Given the description of an element on the screen output the (x, y) to click on. 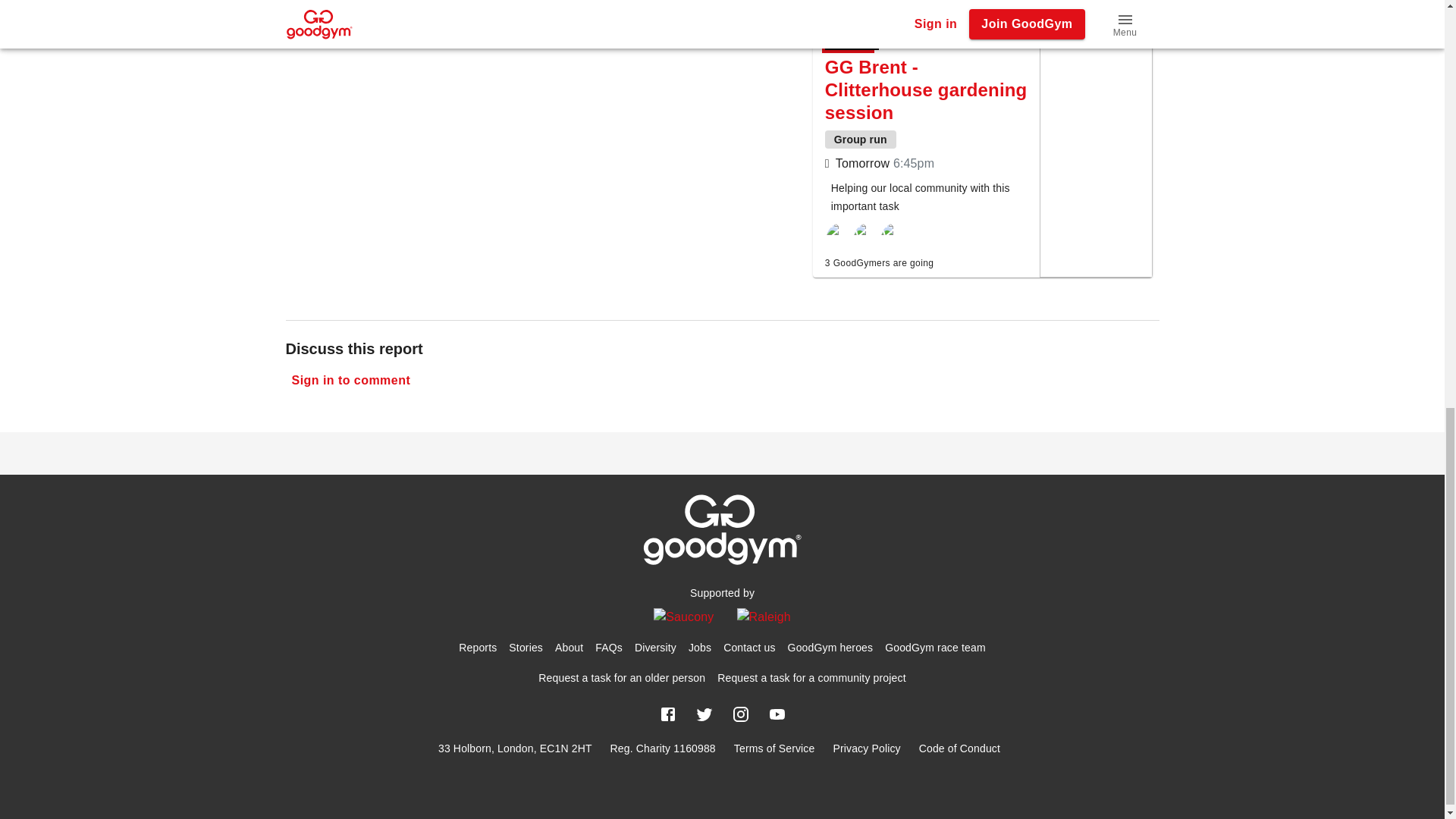
Group run (860, 139)
Sign in to comment (350, 380)
GG Brent - Clitterhouse gardening session (926, 89)
